Given the description of an element on the screen output the (x, y) to click on. 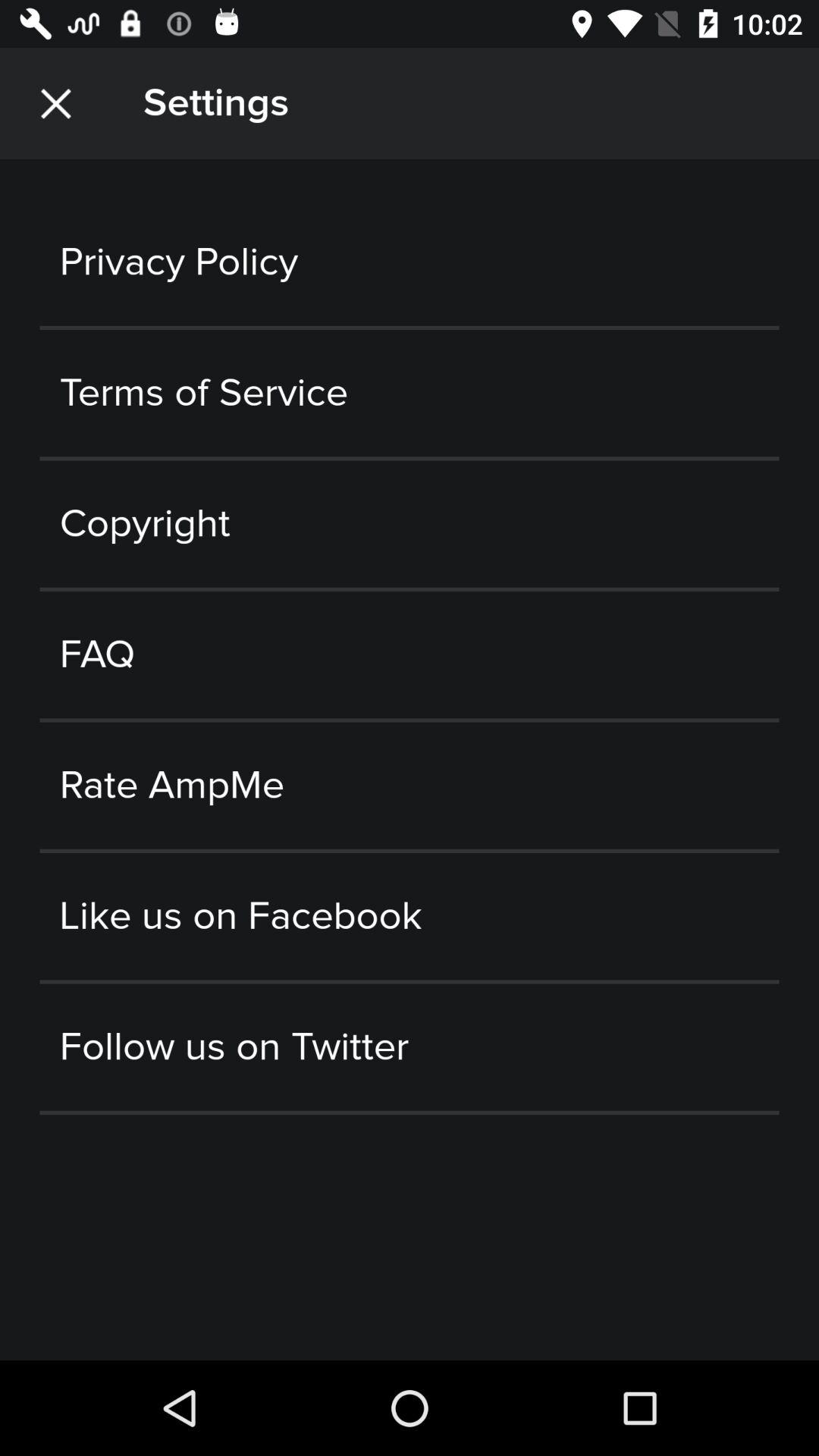
open the item to the left of the settings (55, 103)
